Given the description of an element on the screen output the (x, y) to click on. 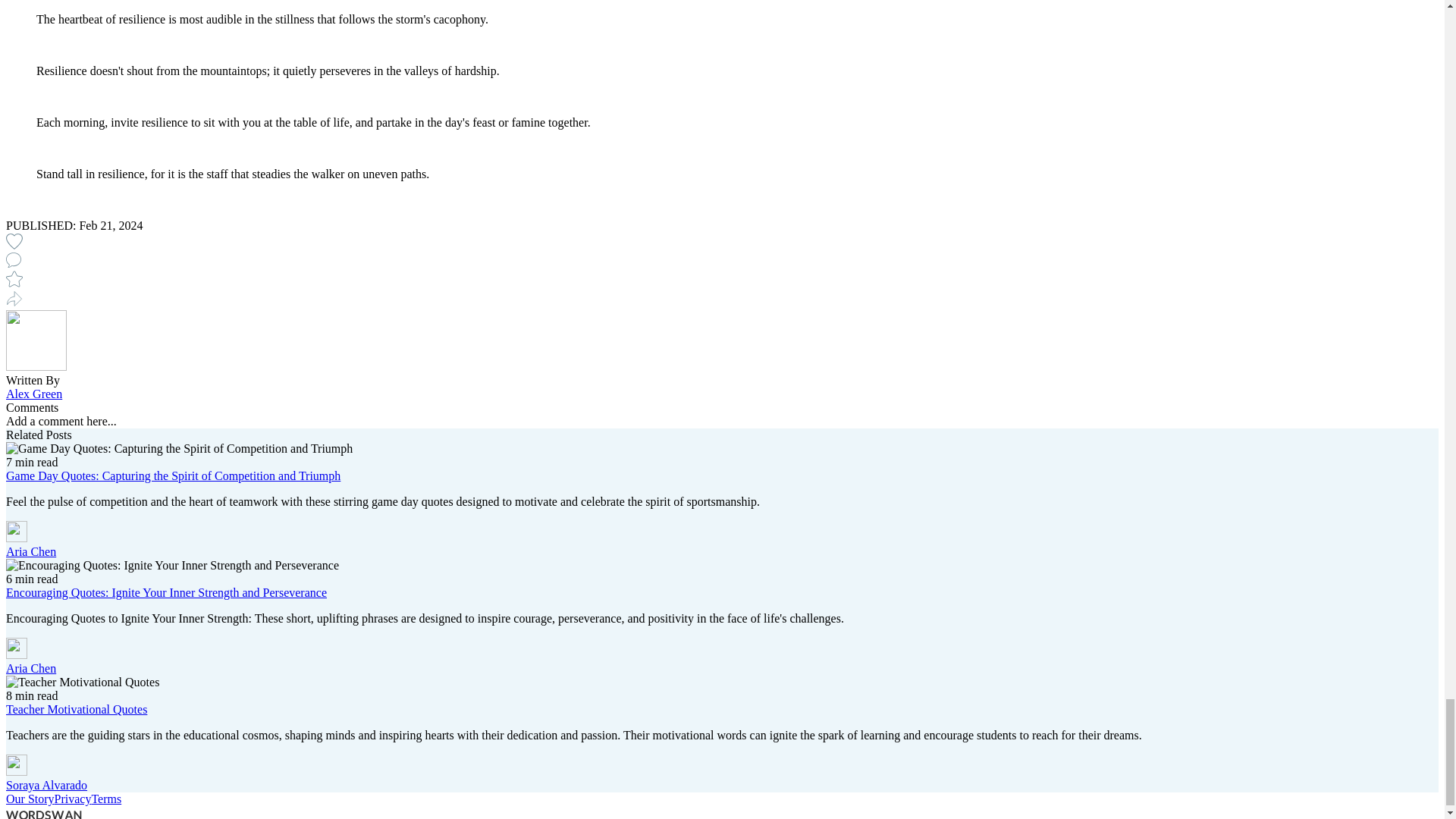
Terms (105, 798)
Our Story (30, 798)
Privacy (73, 798)
Teacher Motivational Quotes (76, 708)
Alex Green (33, 393)
